Given the description of an element on the screen output the (x, y) to click on. 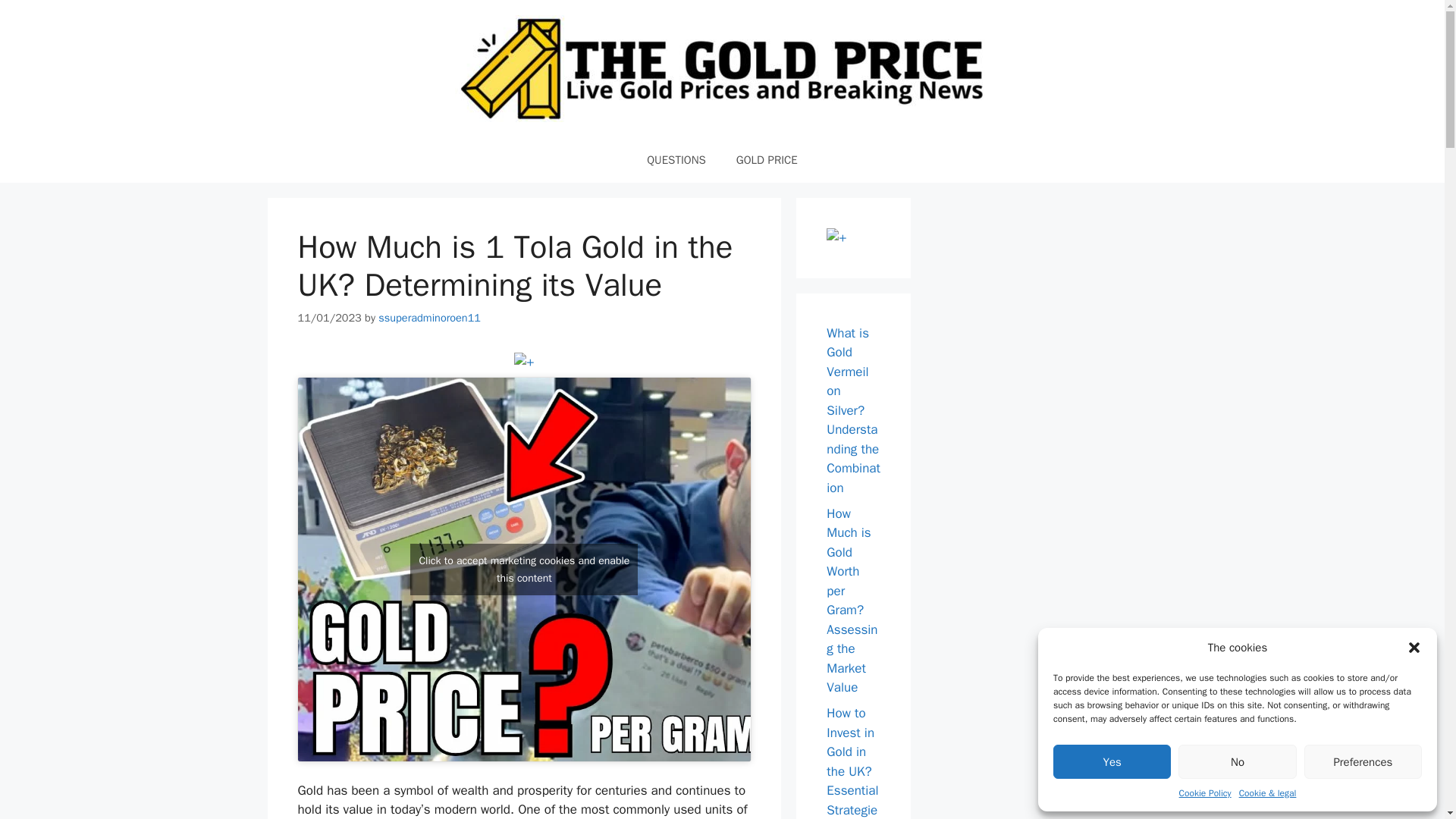
QUESTIONS (675, 159)
Click to accept marketing cookies and enable this content (523, 569)
Cookie Policy (1205, 793)
Preferences (1363, 761)
Yes (1111, 761)
View all posts by ssuperadminoroen11 (429, 317)
No (1236, 761)
ssuperadminoroen11 (429, 317)
GOLD PRICE (766, 159)
